Given the description of an element on the screen output the (x, y) to click on. 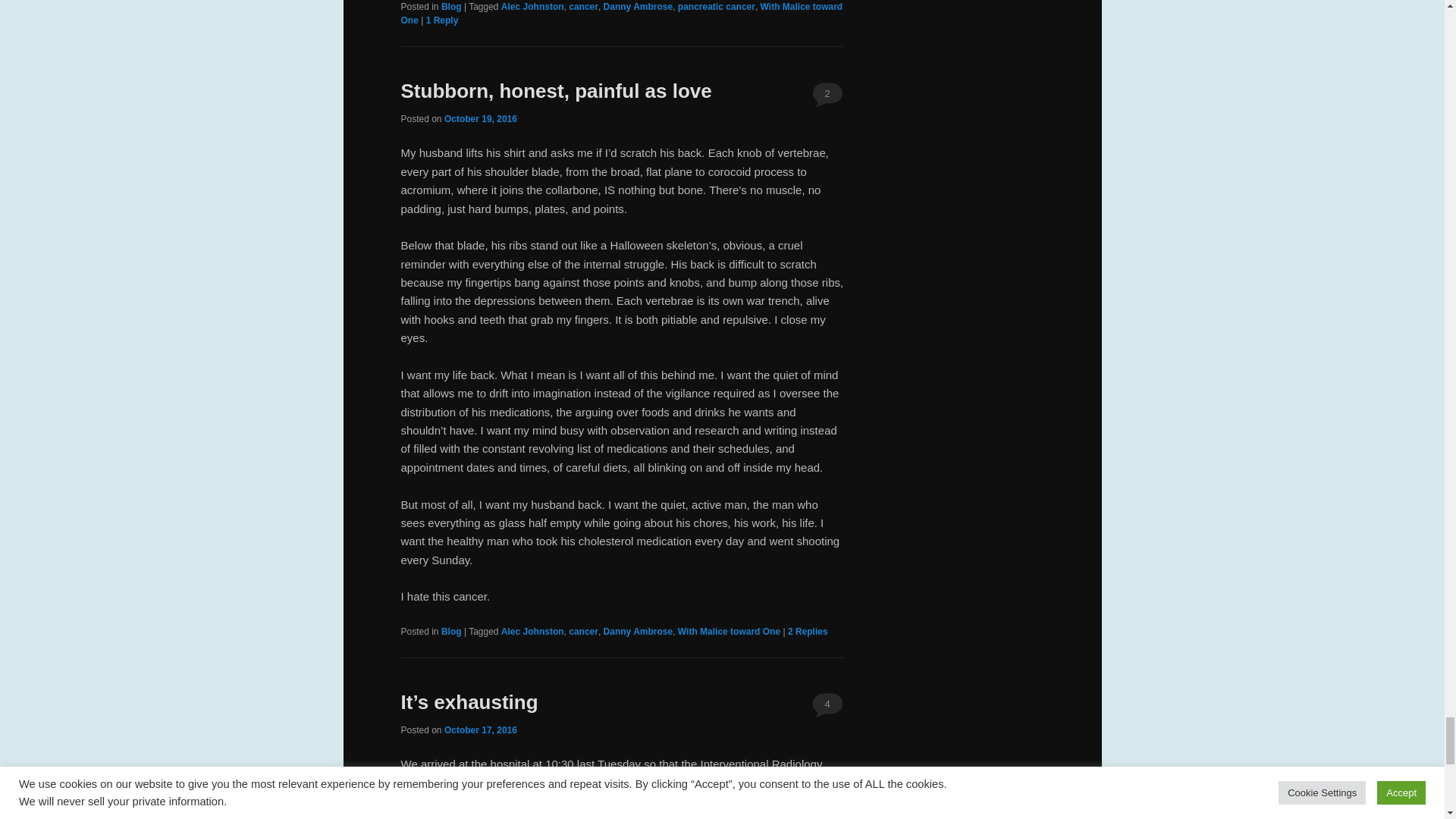
8:22 pm (480, 118)
